Given the description of an element on the screen output the (x, y) to click on. 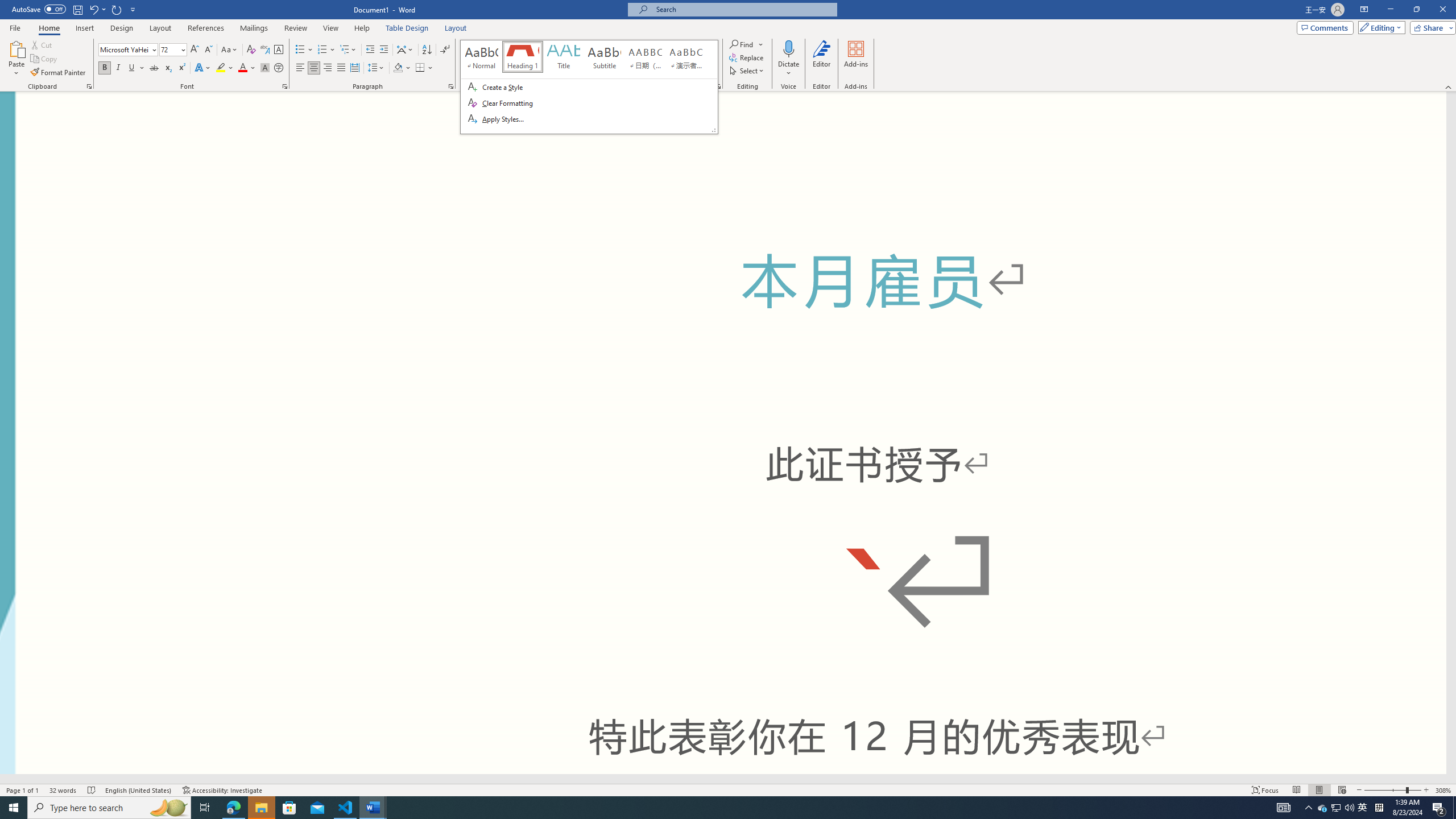
Microsoft search (742, 9)
Bold (104, 67)
Show desktop (1454, 807)
Sort... (426, 49)
Language English (United States) (138, 790)
File Explorer - 1 running window (261, 807)
Align Left (300, 67)
Notification Chevron (1308, 807)
Copy (45, 58)
